Given the description of an element on the screen output the (x, y) to click on. 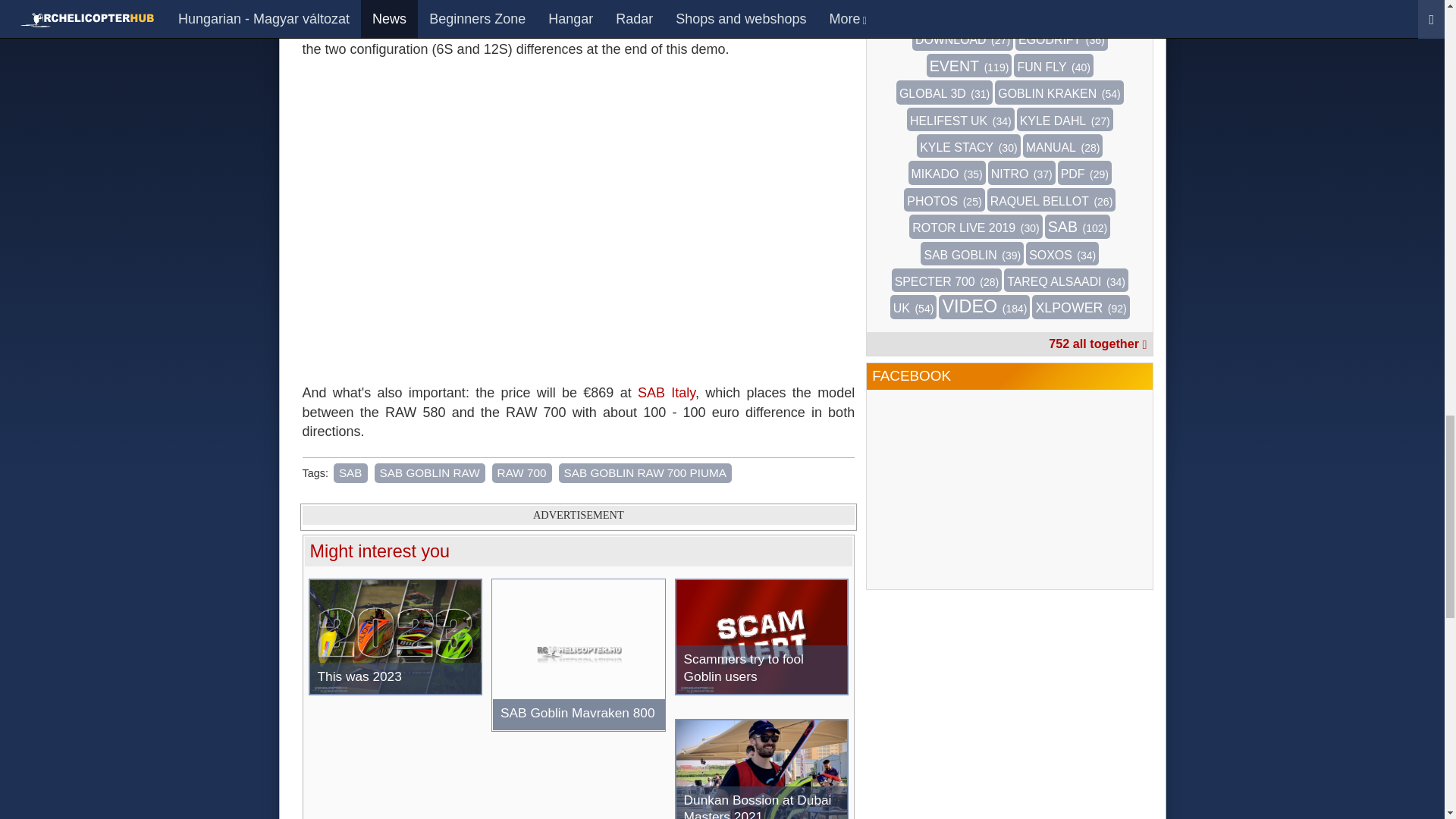
SAB GOBLIN RAW (429, 473)
SAB (350, 473)
SAB Goblin Mavraken 800 (578, 655)
RAW 700 (521, 473)
SAB GOBLIN RAW 700 PIUMA (645, 473)
SAB Italy (666, 392)
Scammers try to fool Goblin users (761, 636)
Dunkan Bossion at Dubai Masters 2021 (761, 769)
This was 2023 (394, 636)
